Given the description of an element on the screen output the (x, y) to click on. 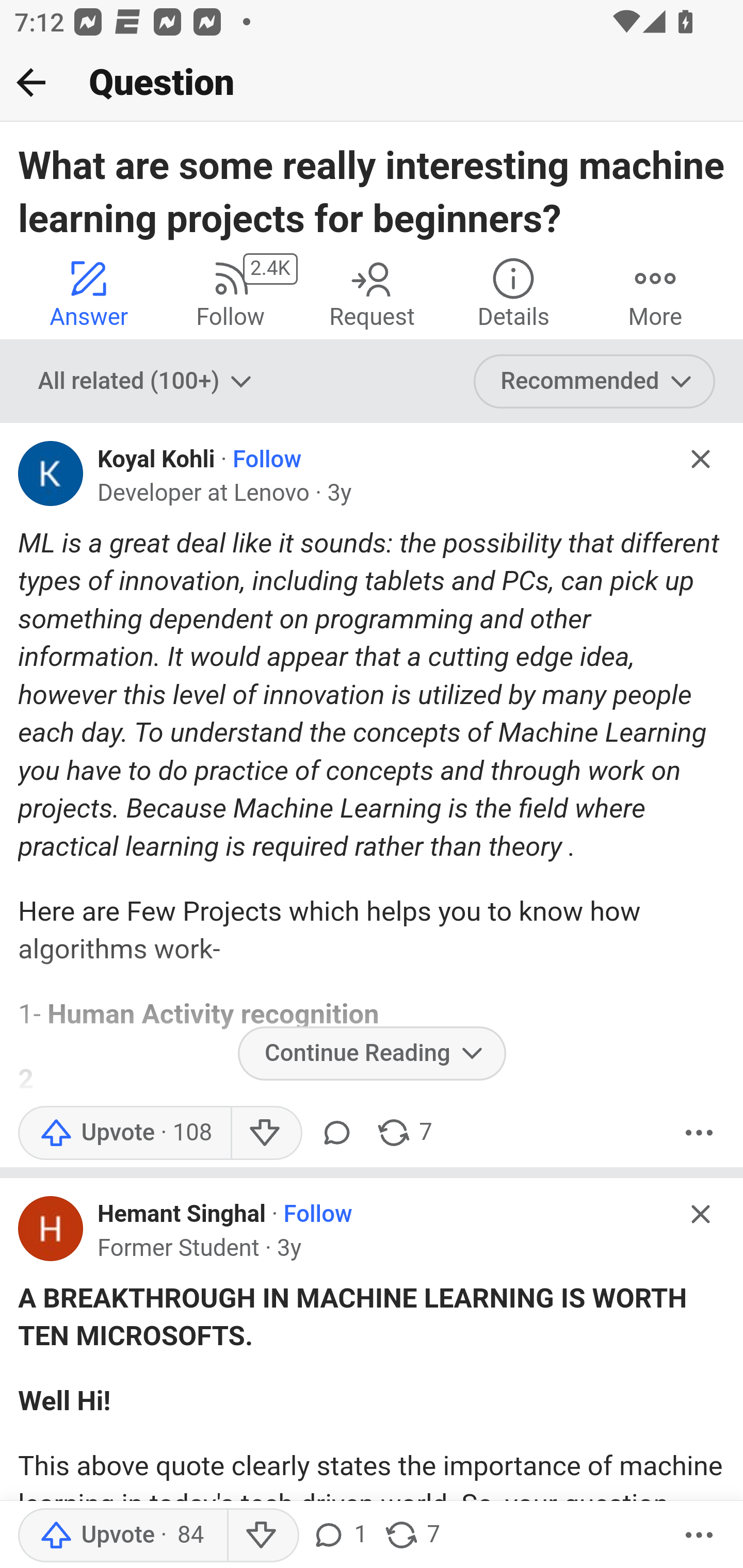
Back Question (371, 82)
Back (30, 82)
Answer (88, 292)
2.4K Follow (230, 292)
Request (371, 292)
Details (513, 292)
More (655, 292)
All related (100+) (146, 381)
Recommended (594, 381)
Hide (700, 459)
Profile photo for Koyal Kohli (50, 473)
Koyal Kohli (156, 459)
Follow (267, 459)
3y 3 y (339, 493)
Continue Reading (371, 1052)
Upvote (124, 1132)
Downvote (266, 1132)
Comment (336, 1132)
7 shares (404, 1132)
More (699, 1132)
Hide (700, 1214)
Profile photo for Hemant Singhal (50, 1228)
Hemant Singhal (182, 1214)
Follow (317, 1214)
3y 3 y (289, 1248)
Upvote (122, 1535)
Downvote (262, 1535)
1 comment (338, 1535)
7 shares (411, 1535)
More (699, 1535)
